Given the description of an element on the screen output the (x, y) to click on. 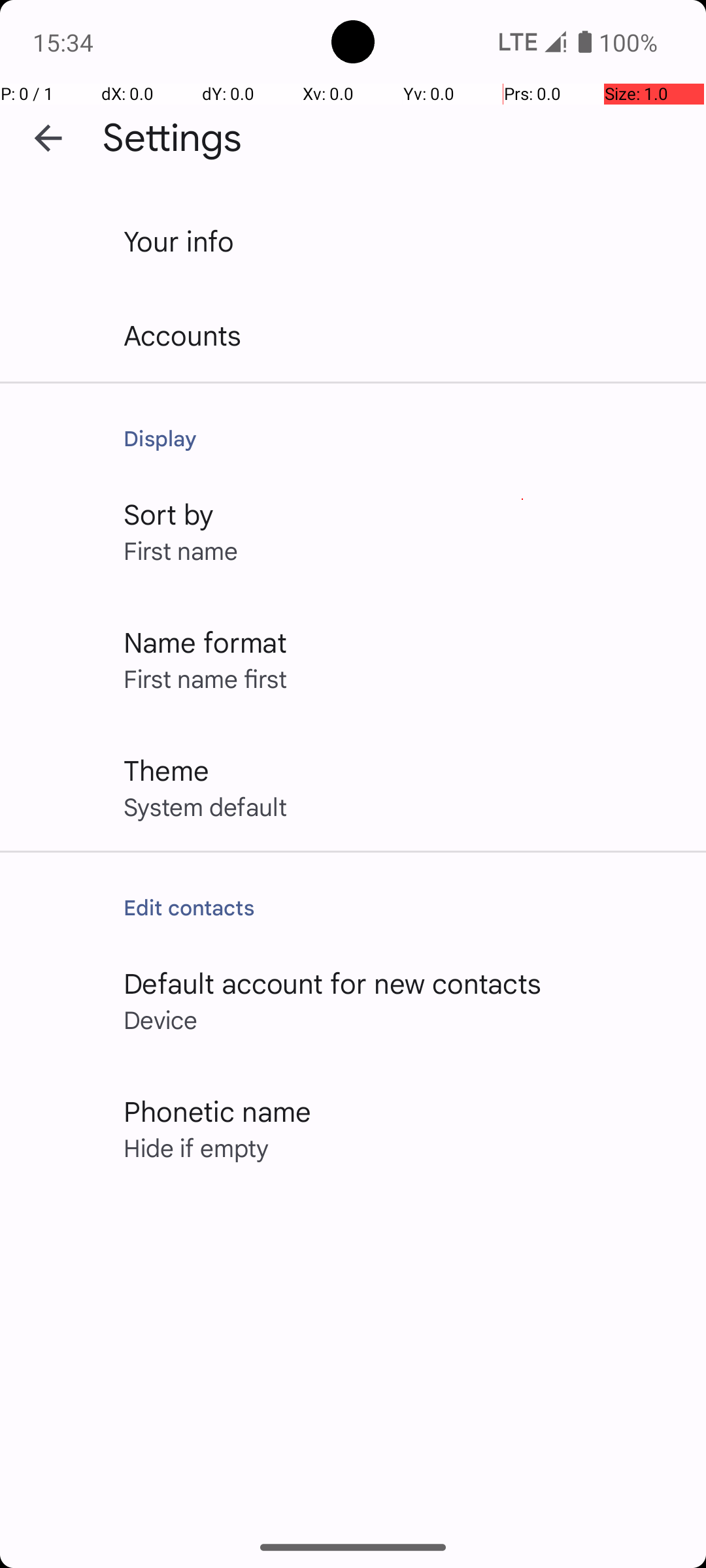
Your info Element type: android.widget.TextView (178, 240)
Accounts Element type: android.widget.TextView (182, 334)
Display Element type: android.widget.TextView (400, 437)
Name format Element type: android.widget.TextView (205, 641)
First name first Element type: android.widget.TextView (204, 678)
Edit contacts Element type: android.widget.TextView (400, 906)
Default account for new contacts Element type: android.widget.TextView (332, 982)
Phonetic name Element type: android.widget.TextView (217, 1110)
Hide if empty Element type: android.widget.TextView (196, 1147)
